Given the description of an element on the screen output the (x, y) to click on. 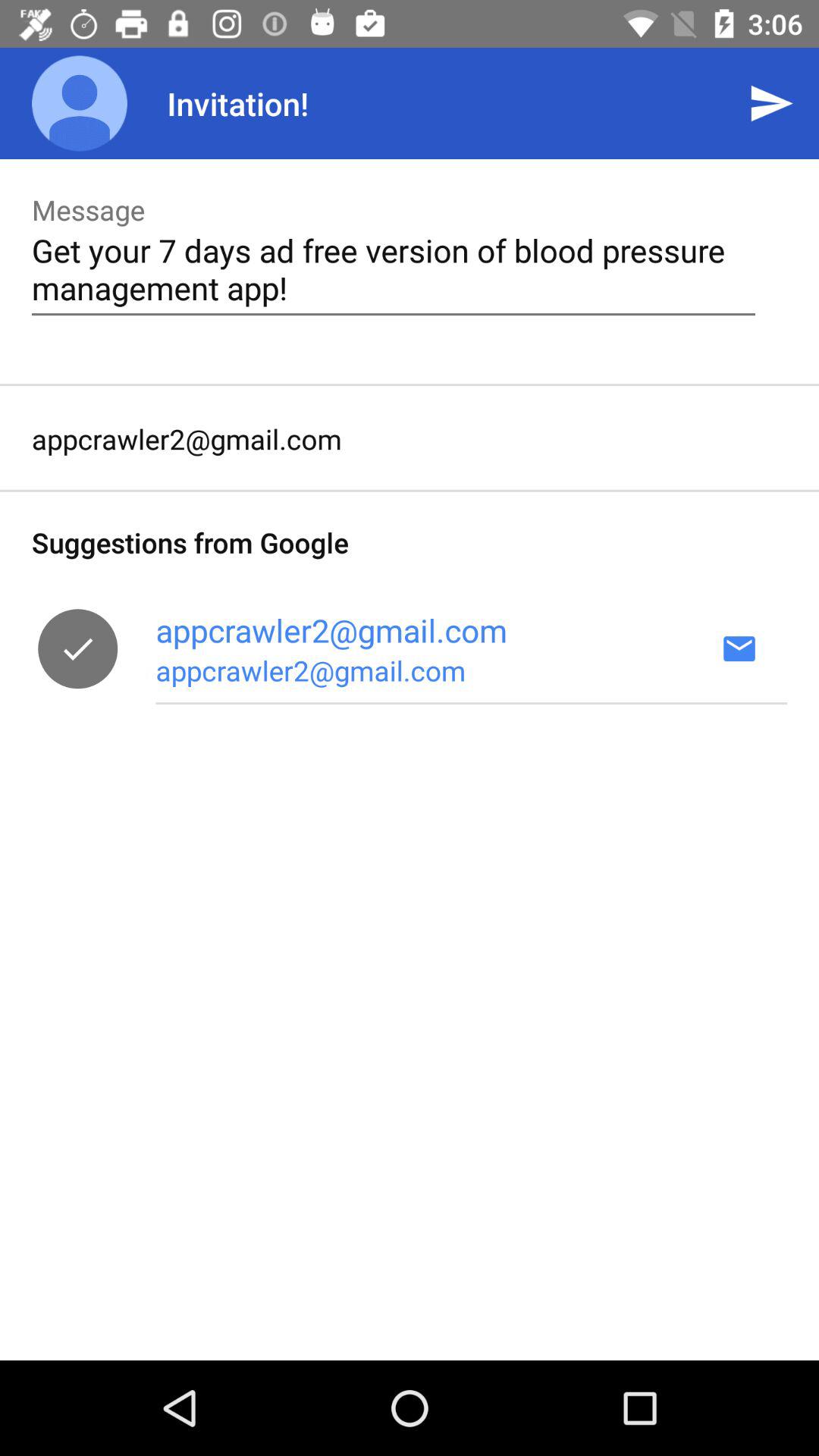
press item next to invitation! (79, 103)
